Given the description of an element on the screen output the (x, y) to click on. 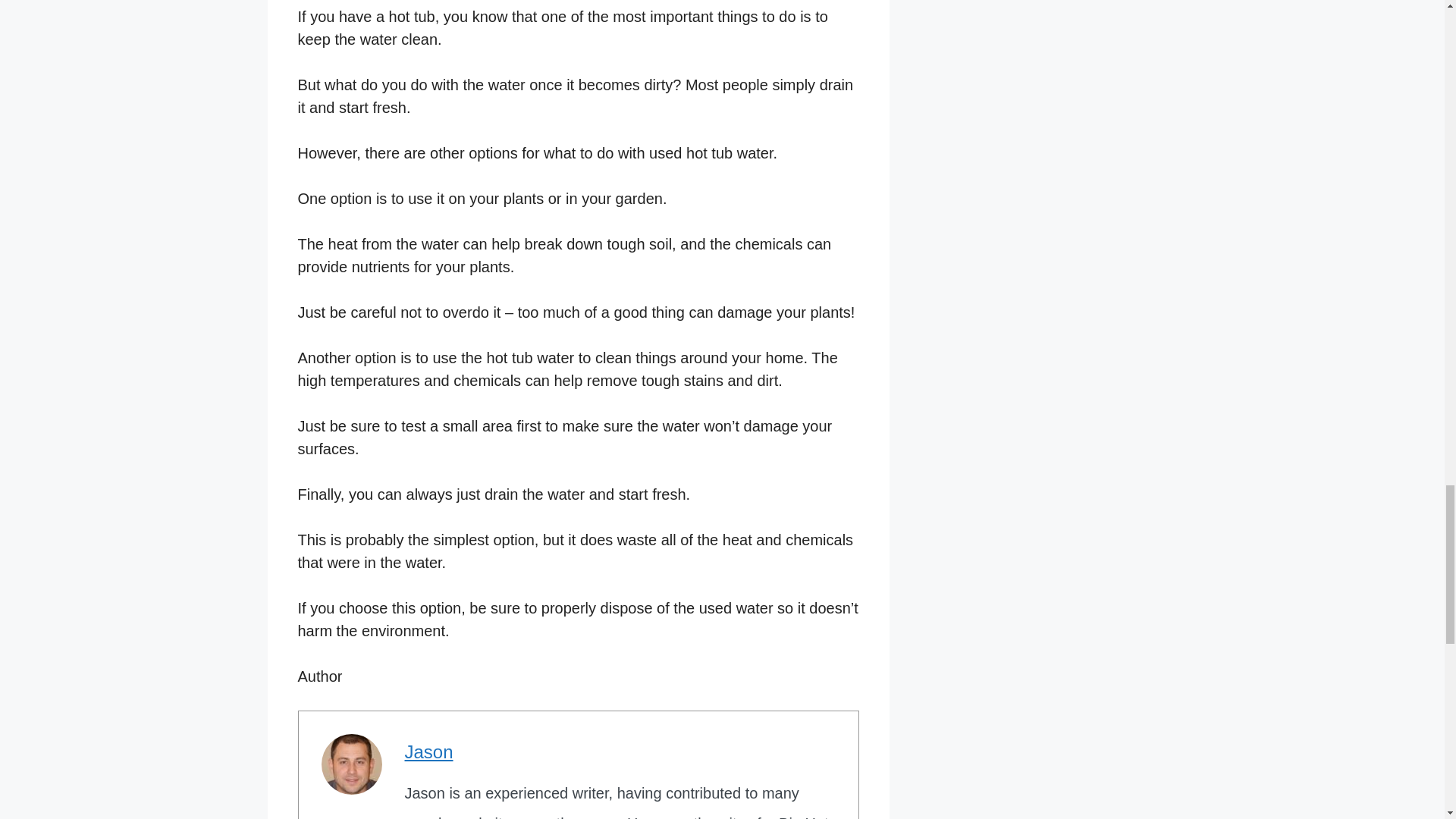
Jason (428, 752)
